Given the description of an element on the screen output the (x, y) to click on. 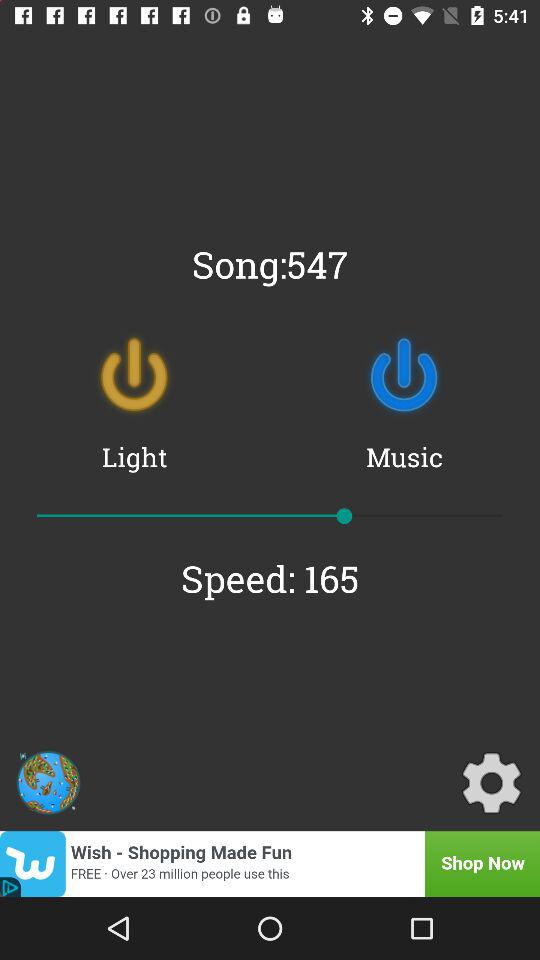
press the icon below song:547 (404, 375)
